Given the description of an element on the screen output the (x, y) to click on. 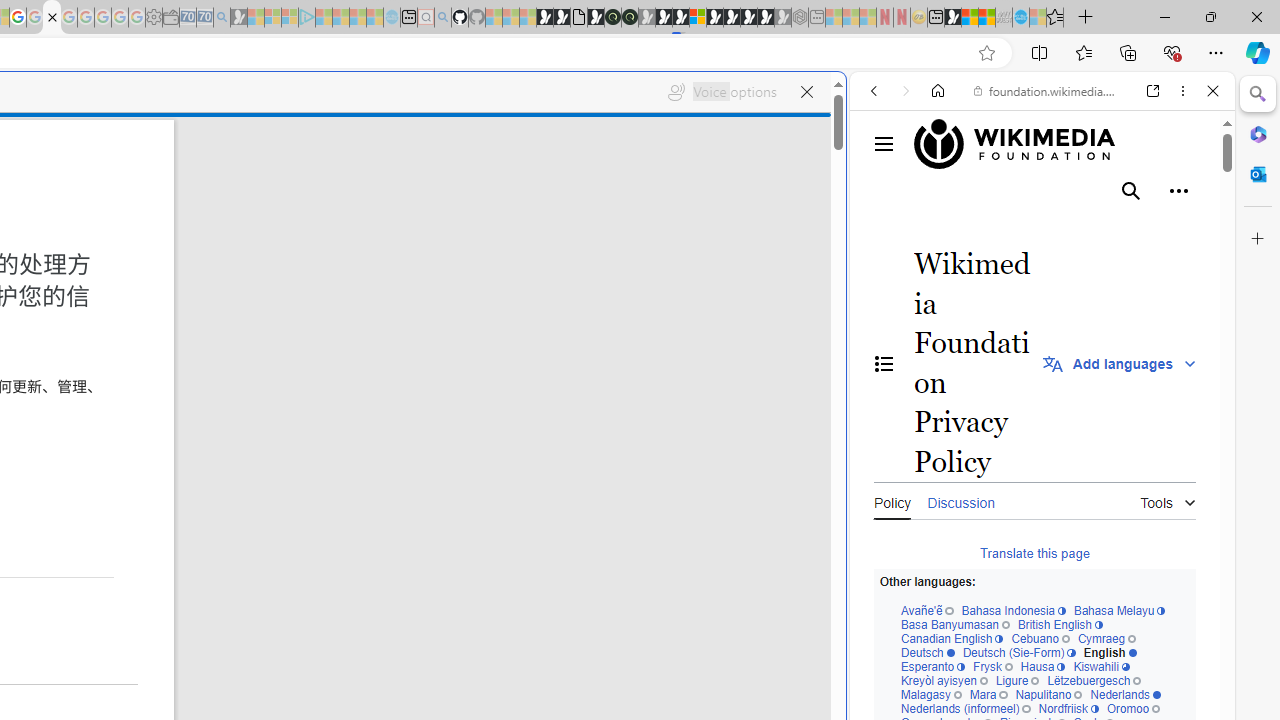
github - Search - Sleeping (442, 17)
Mara (988, 695)
Toggle the table of contents (883, 363)
Favorites - Sleeping (1055, 17)
Bahasa Indonesia (1013, 611)
Close split screen (844, 102)
Frequently visited (418, 265)
Cebuano (1040, 639)
